Given the description of an element on the screen output the (x, y) to click on. 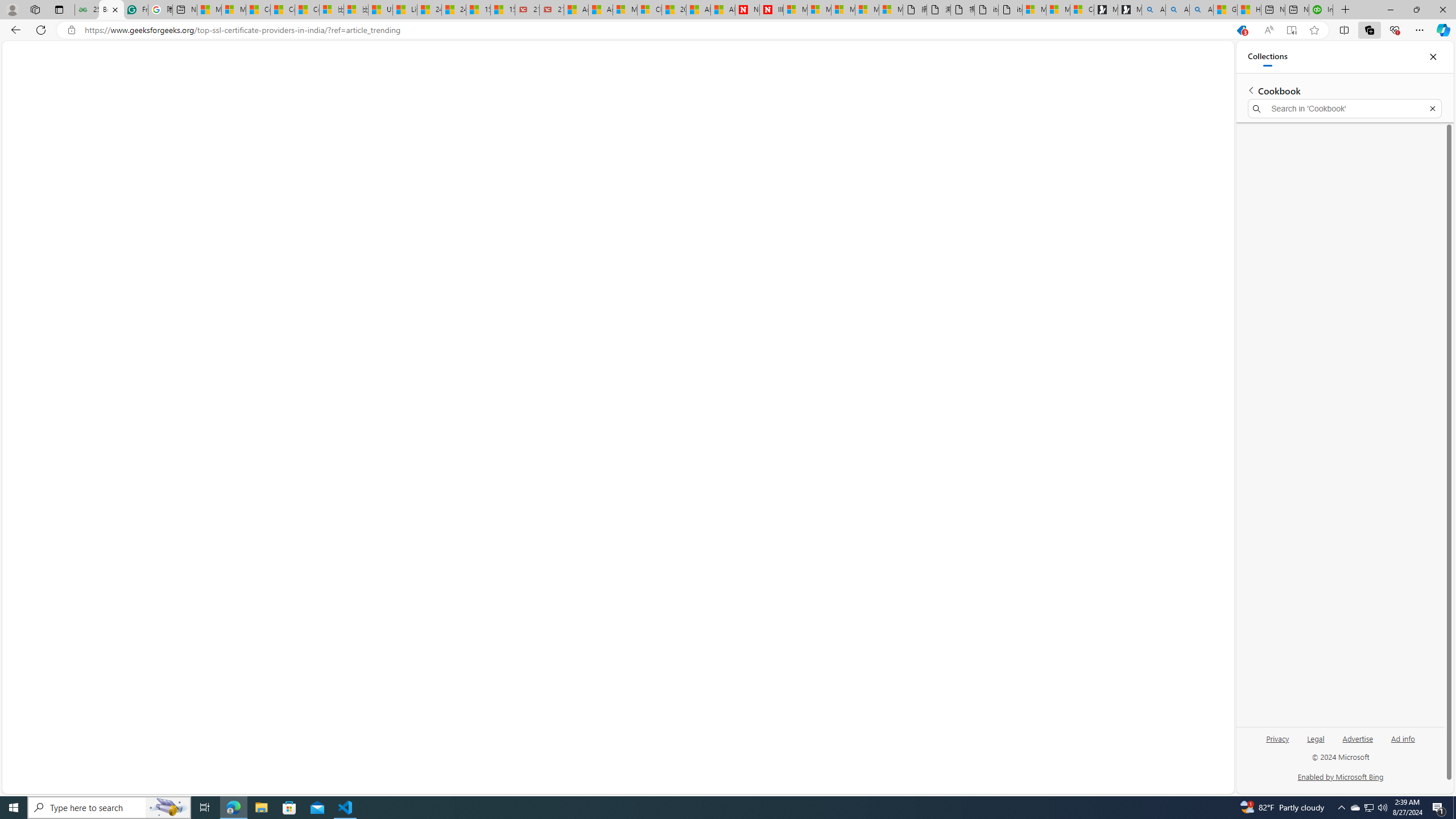
Full Stack Developer Roadmap [2024 Updated] (1125, 224)
24/7 customer support. (717, 608)
25 Basic Linux Commands For Beginners - GeeksforGeeks (86, 9)
AutomationID: wheel (1035, 254)
Tech Blogs (321, 80)
Tips & Tricks (159, 79)
Alabama high school quarterback dies - Search (1153, 9)
